Given the description of an element on the screen output the (x, y) to click on. 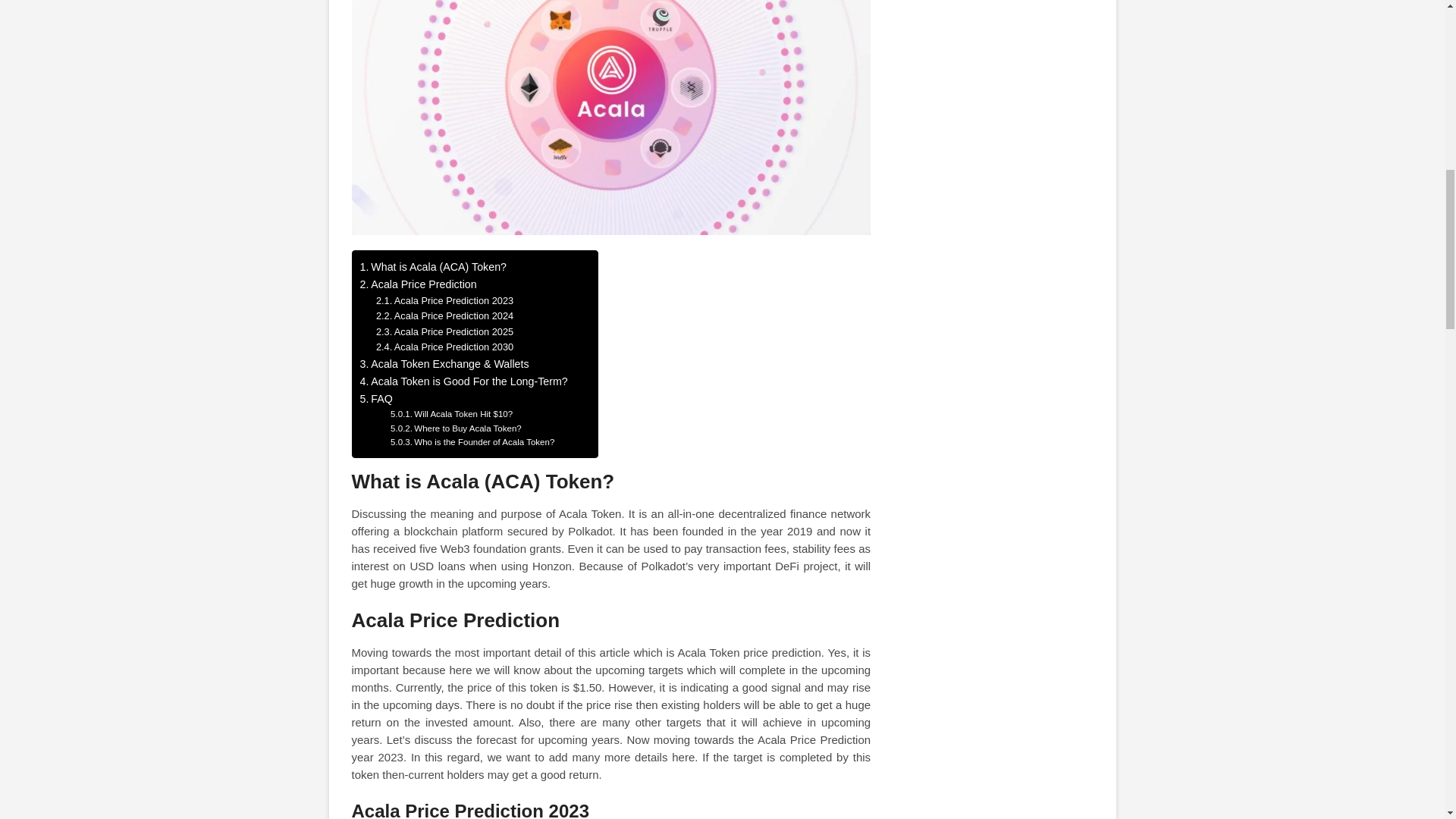
Acala Price Prediction (417, 284)
Acala Token is Good For the Long-Term? (463, 381)
Who is the Founder of Acala Token? (472, 441)
FAQ (375, 398)
Acala Price Prediction 2030 (444, 347)
Who is the Founder of Acala Token? (472, 441)
Acala Price Prediction 2023 (444, 301)
Acala Price Prediction 2024 (444, 316)
Acala Token is Good For the Long-Term? (463, 381)
FAQ (375, 398)
Where to Buy Acala Token? (455, 427)
Acala Price Prediction 2025 (444, 332)
Acala Price Prediction 2023 (444, 301)
Acala Price Prediction 2024 (444, 316)
Acala Price Prediction (417, 284)
